Given the description of an element on the screen output the (x, y) to click on. 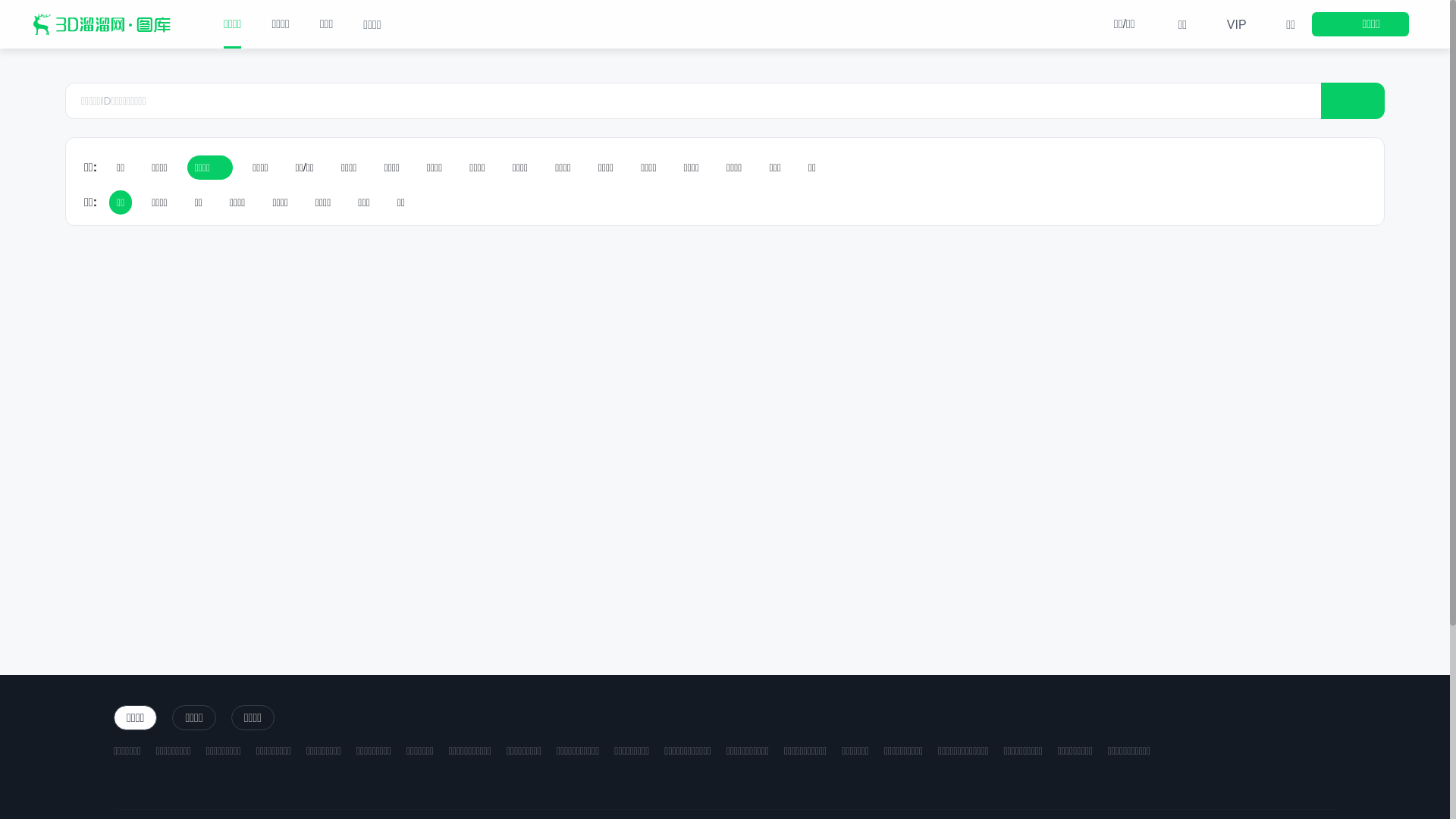
VIP Element type: text (1224, 23)
